Given the description of an element on the screen output the (x, y) to click on. 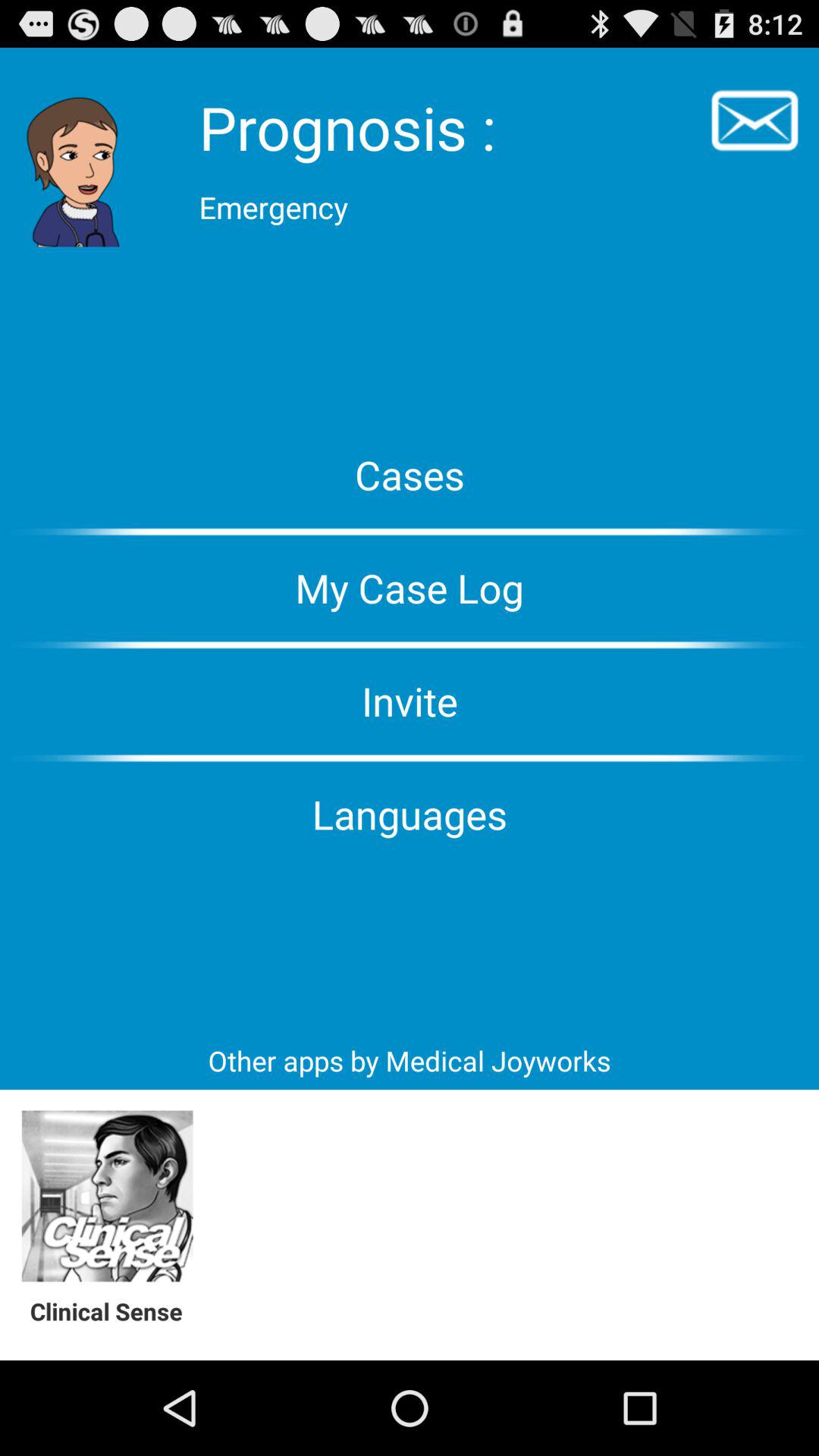
flip to the invite (409, 700)
